Given the description of an element on the screen output the (x, y) to click on. 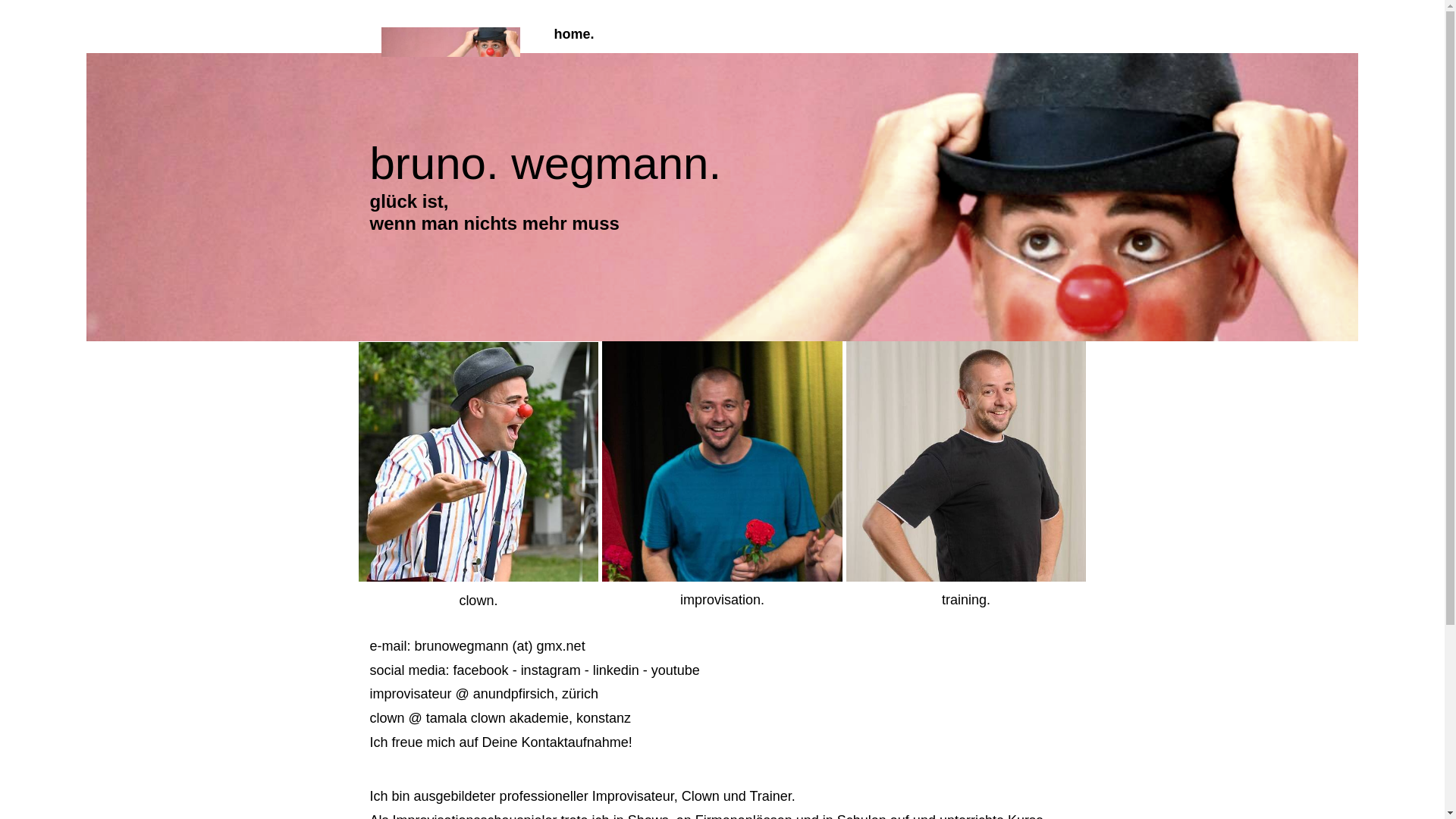
youtube Element type: text (675, 669)
facebook Element type: text (480, 669)
brunowegmann (at) gmx.net Element type: text (499, 645)
home. Element type: text (579, 33)
clown @ tamala clown akademie, konstanz Element type: text (500, 717)
linkedin Element type: text (616, 669)
instagram Element type: text (550, 669)
